Given the description of an element on the screen output the (x, y) to click on. 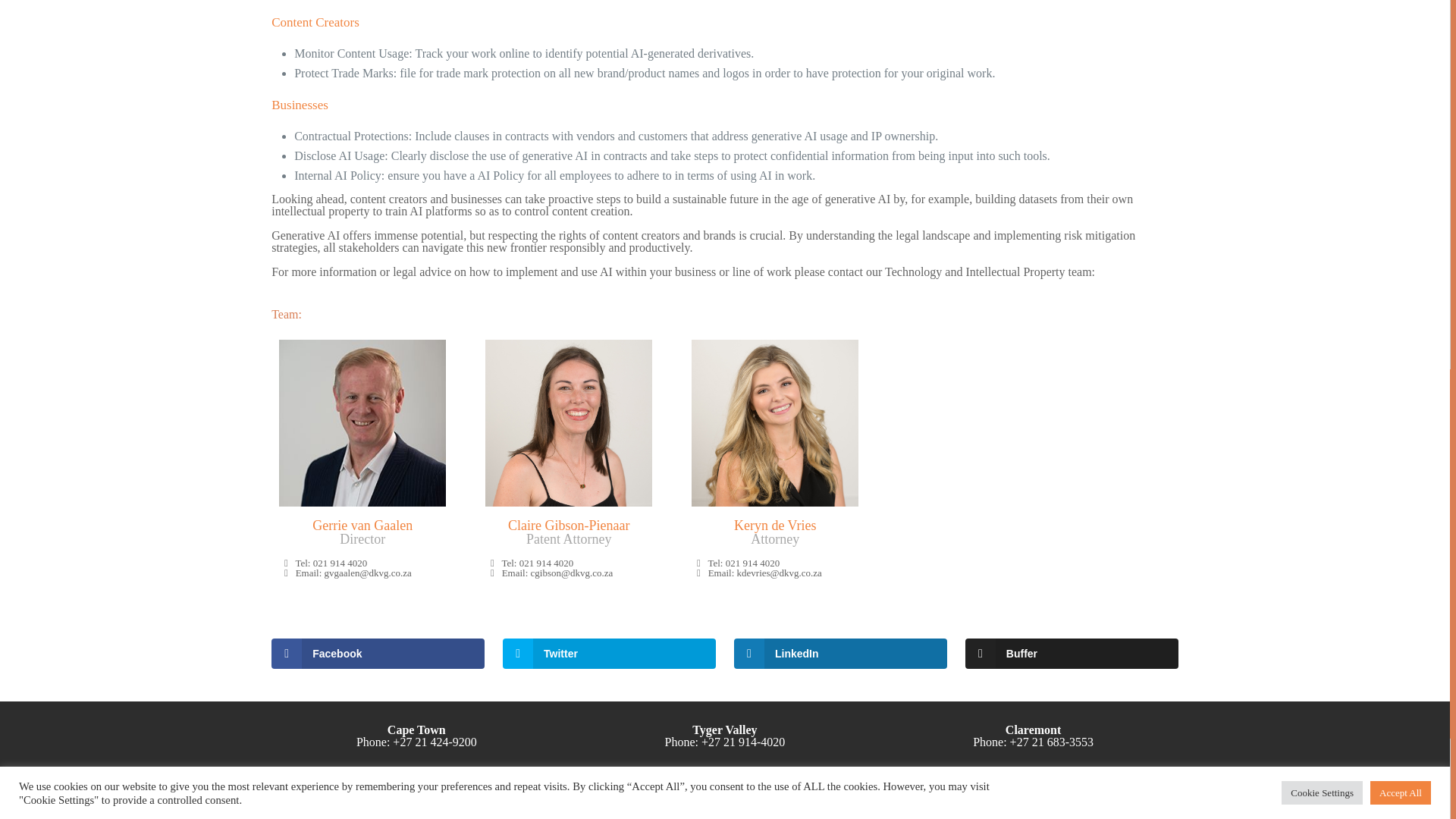
Instagram (1134, 800)
Facebook (1094, 800)
LinkedIn (1114, 800)
